Given the description of an element on the screen output the (x, y) to click on. 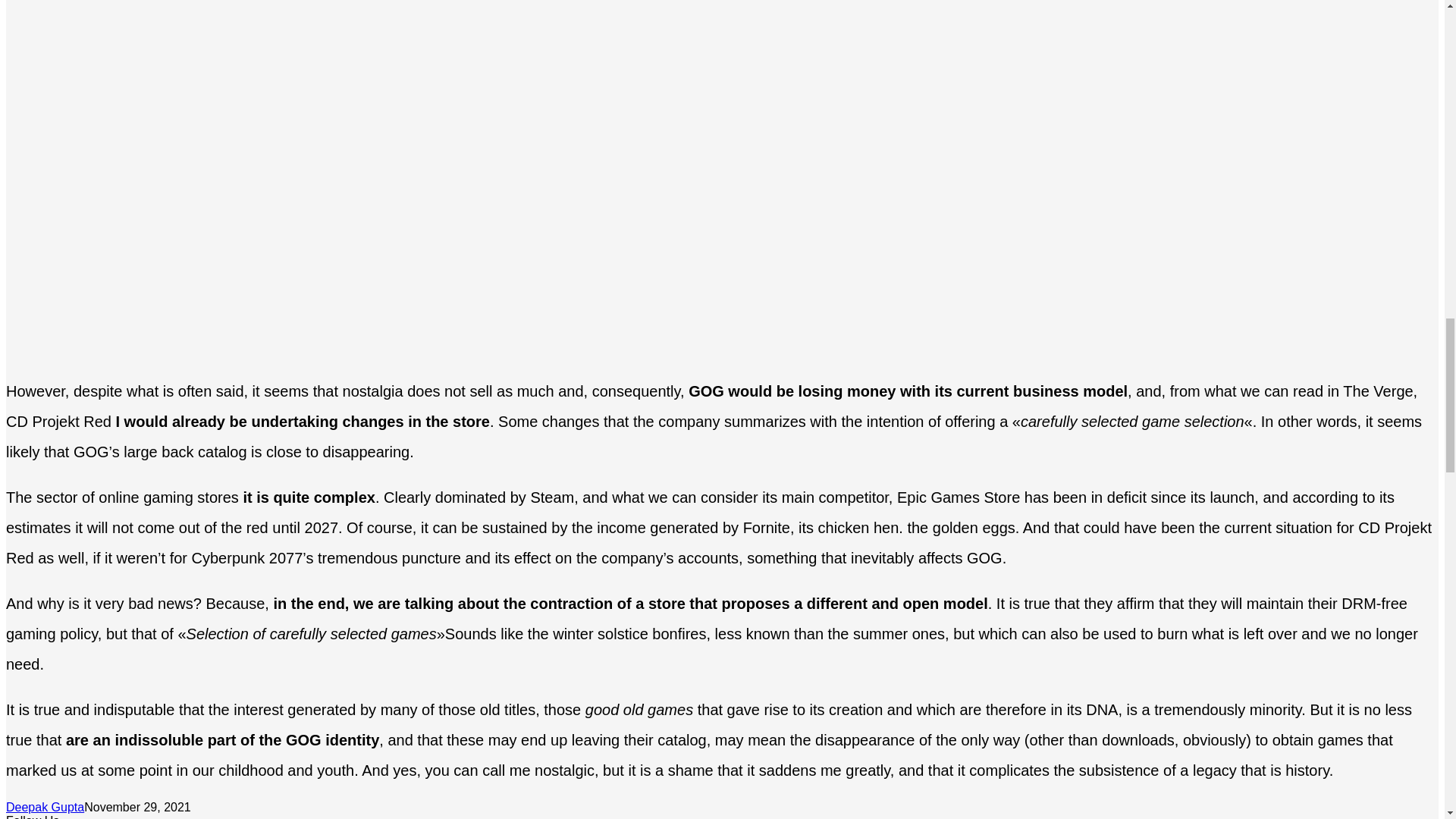
Deepak Gupta (44, 807)
Deepak Gupta (44, 807)
